Given the description of an element on the screen output the (x, y) to click on. 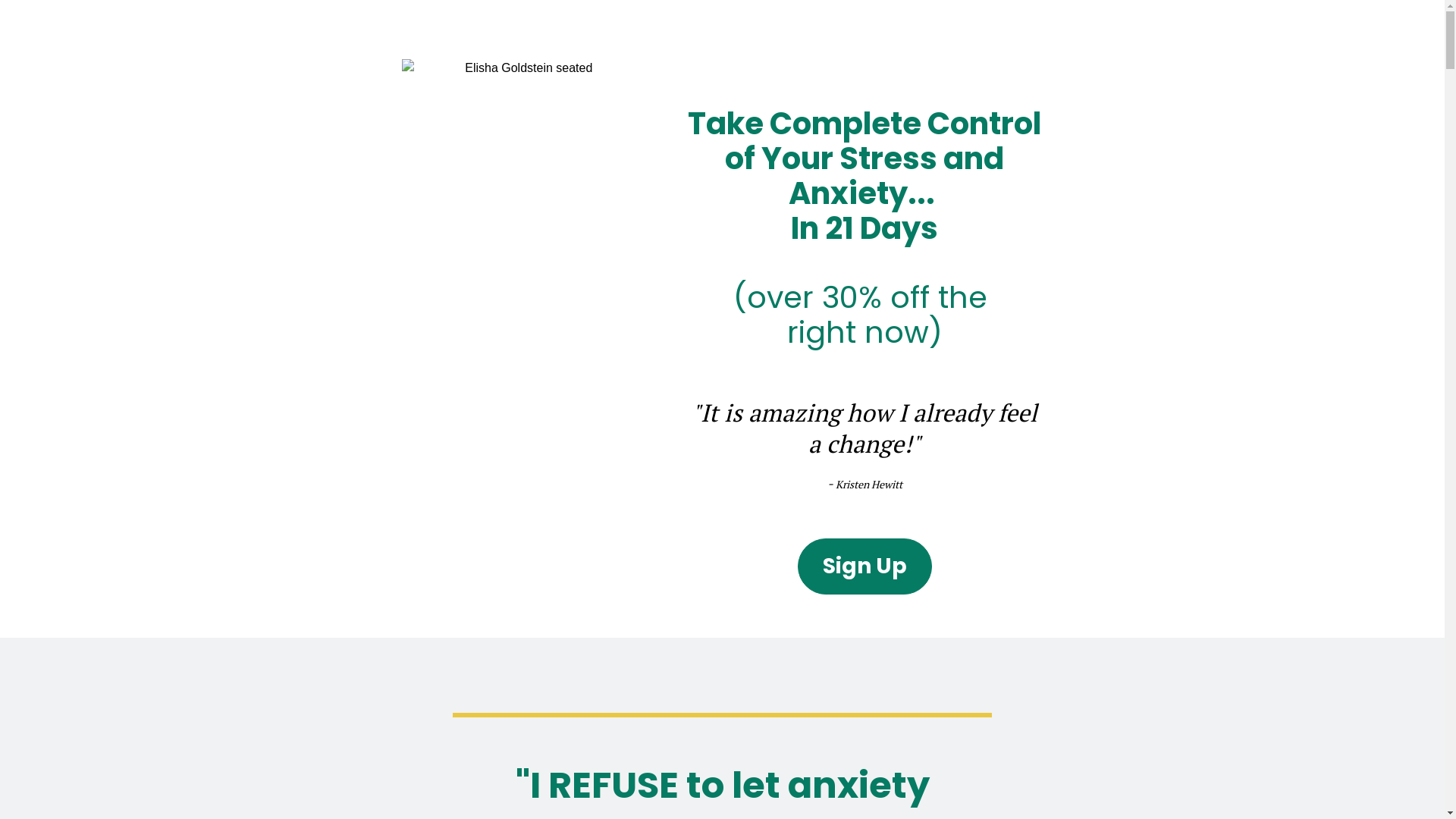
Sign Up Element type: text (864, 566)
